Given the description of an element on the screen output the (x, y) to click on. 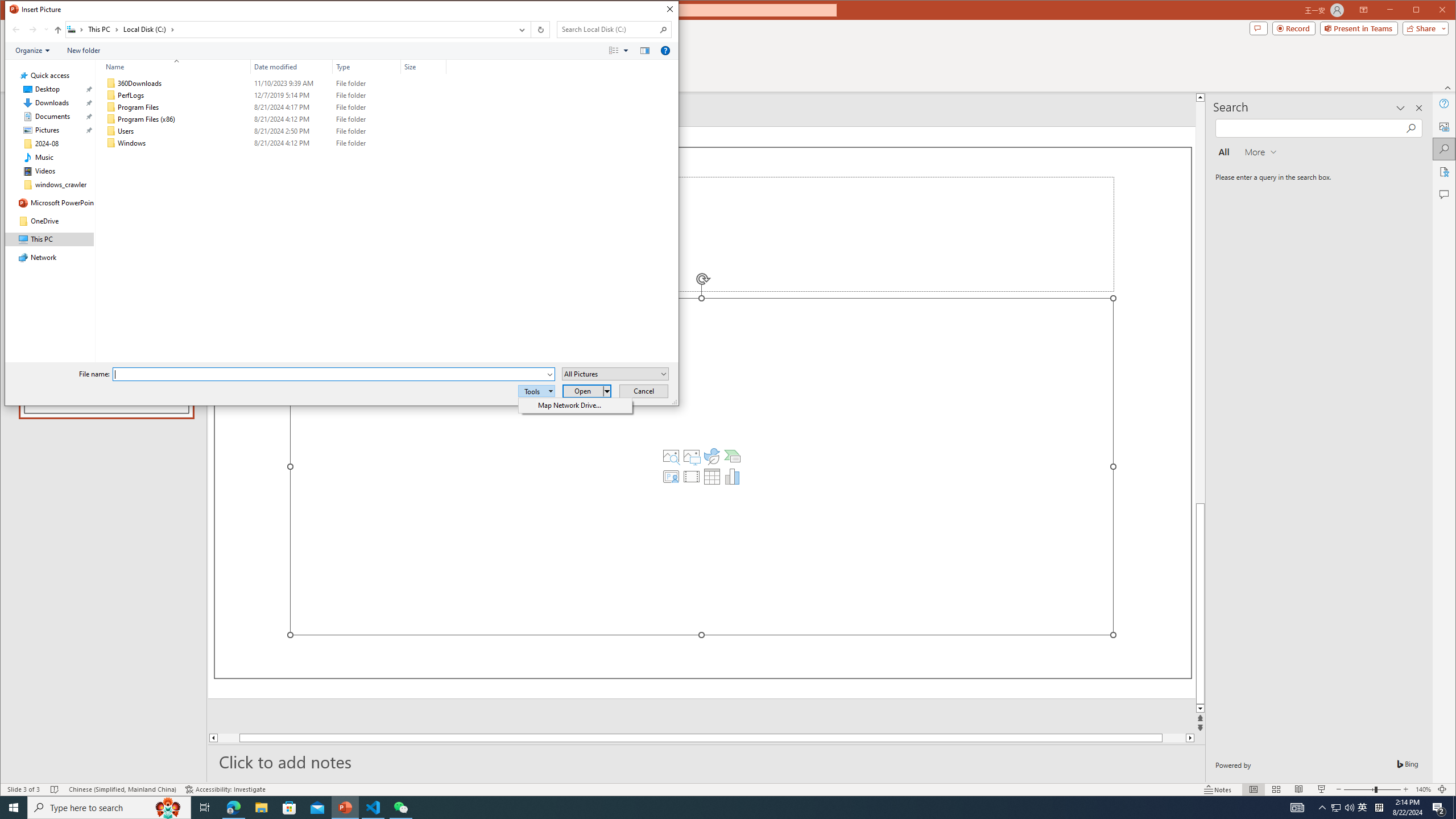
Stock Images (670, 456)
WeChat - 1 running window (400, 807)
Class: UIImage (111, 142)
Pictures (691, 456)
Command Module (341, 50)
Type (366, 142)
All locations (75, 29)
Type here to search (108, 807)
Line up (1362, 807)
Running applications (1200, 96)
&Help (707, 807)
